Given the description of an element on the screen output the (x, y) to click on. 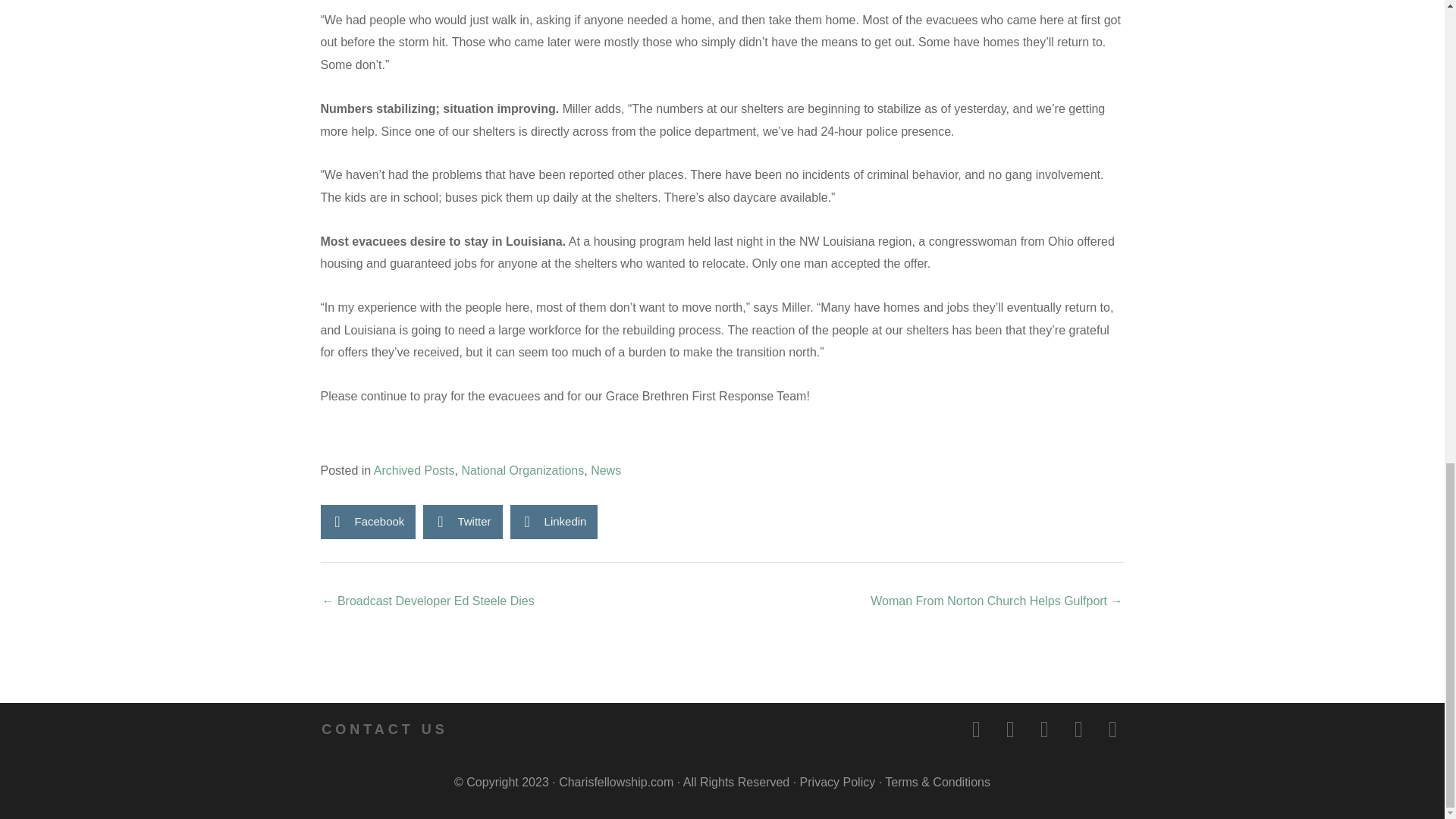
National Organizations (522, 470)
Facebook (367, 521)
Archived Posts (414, 470)
Twitter (462, 521)
Linkedin (554, 521)
News (606, 470)
